Given the description of an element on the screen output the (x, y) to click on. 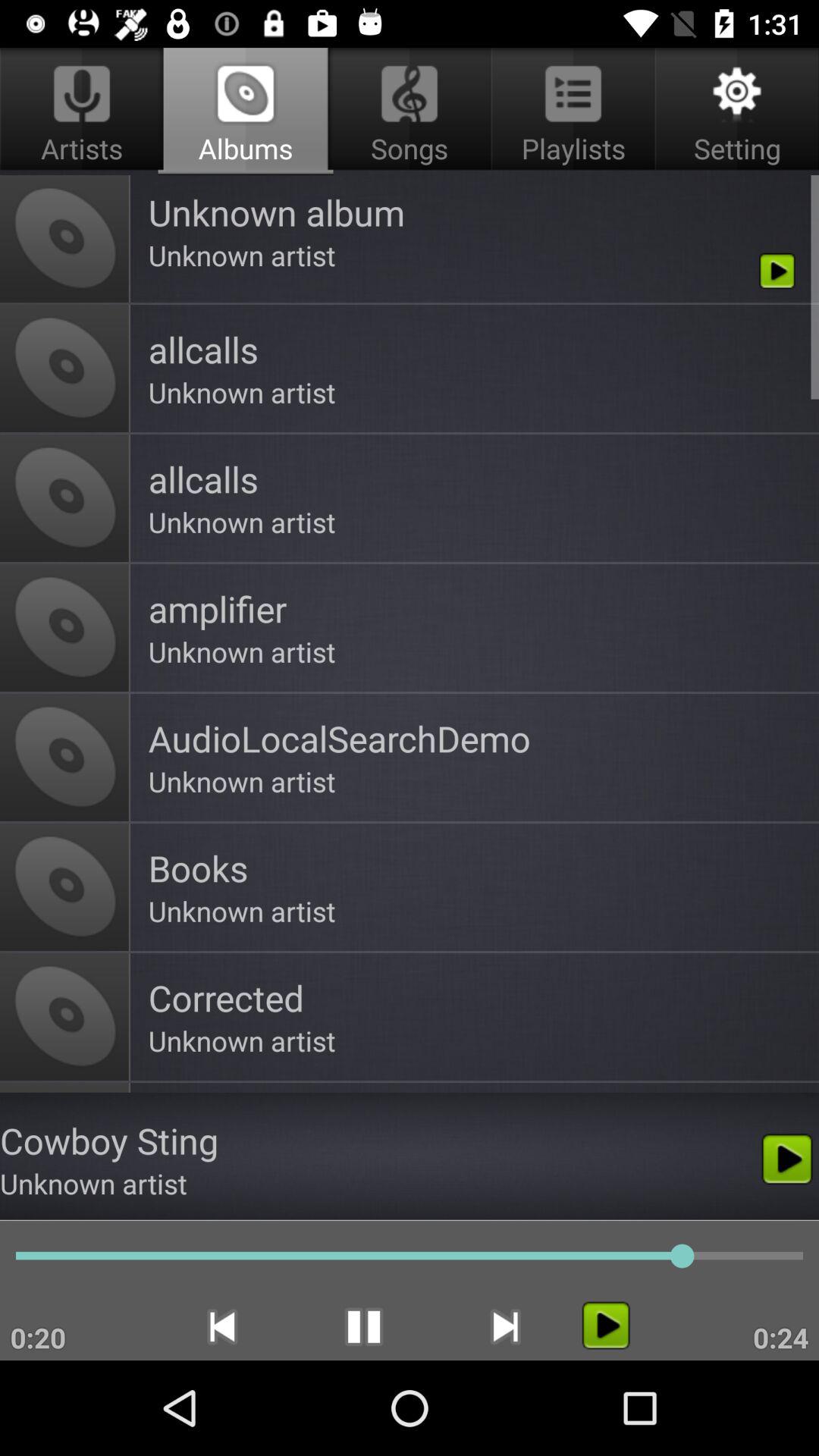
choose the albums icon (245, 111)
